Given the description of an element on the screen output the (x, y) to click on. 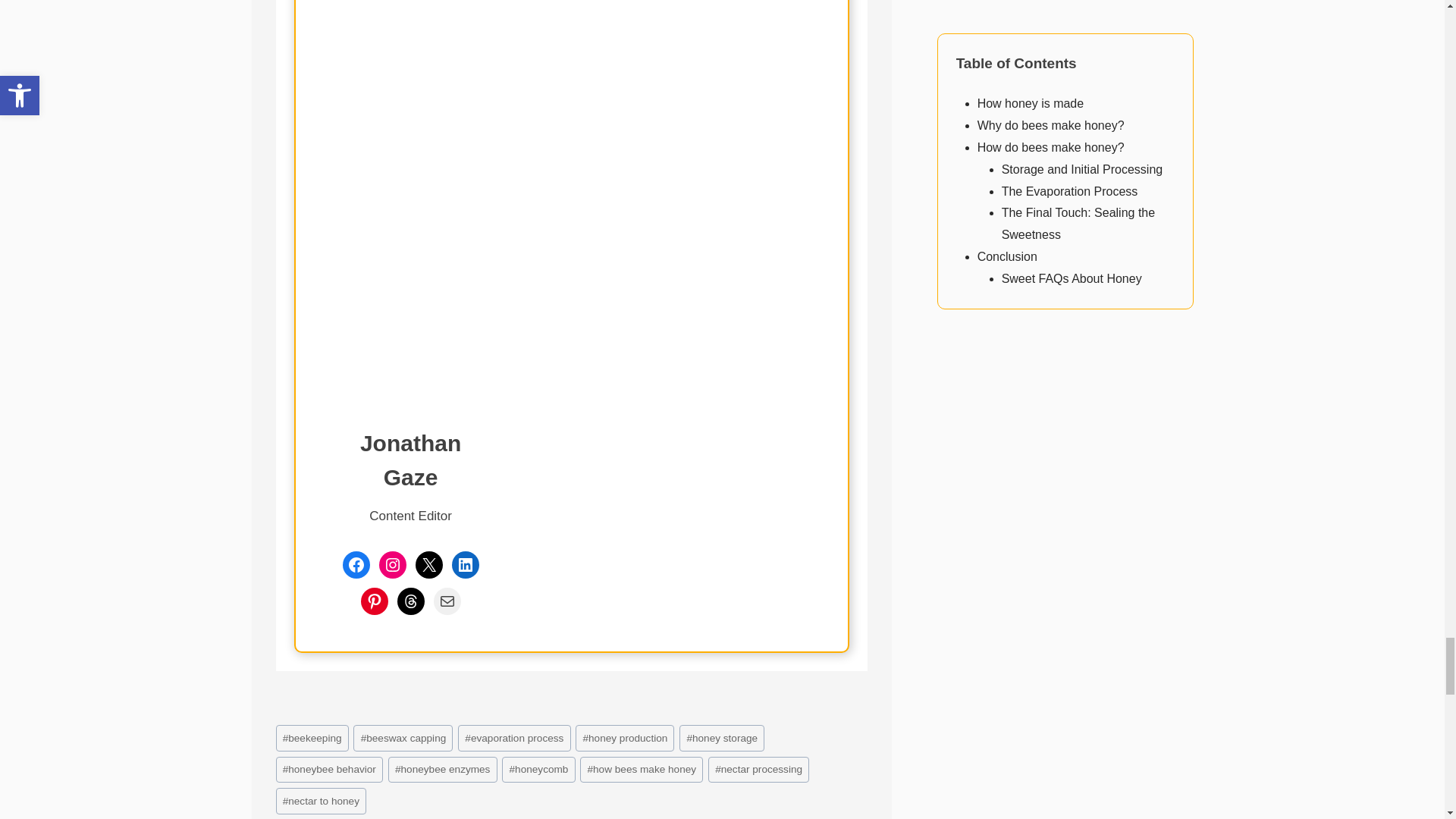
beekeeping (312, 737)
honeybee behavior (330, 769)
nectar processing (758, 769)
how bees make honey (641, 769)
honey production (624, 737)
honeybee enzymes (442, 769)
beeswax capping (402, 737)
honey storage (721, 737)
honeycomb (538, 769)
nectar to honey (321, 800)
evaporation process (514, 737)
